Given the description of an element on the screen output the (x, y) to click on. 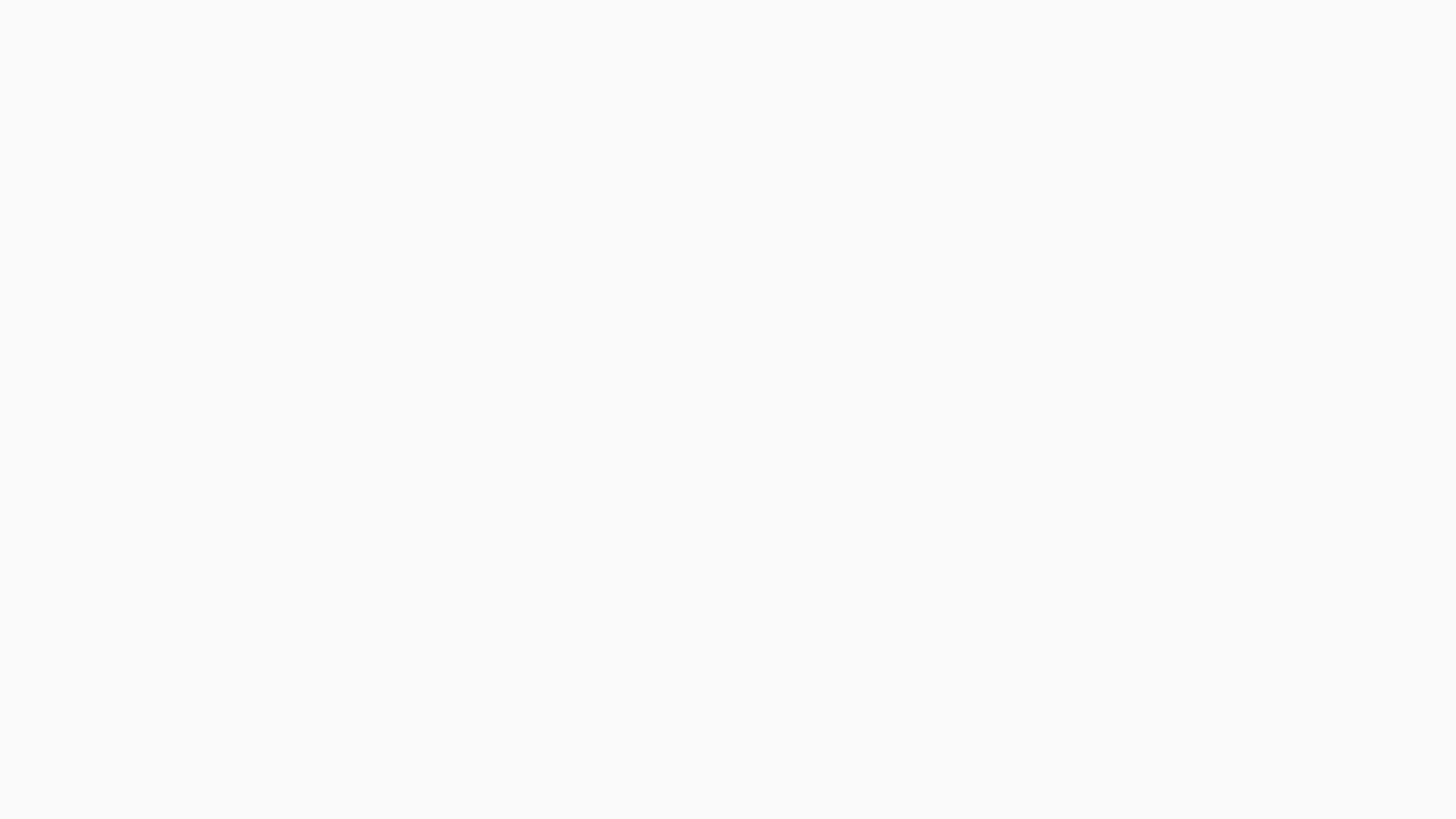
0 Element type: text (379, 255)
Envoyer Element type: text (1022, 721)
0 Element type: text (380, 317)
0 Element type: text (379, 317)
